Given the description of an element on the screen output the (x, y) to click on. 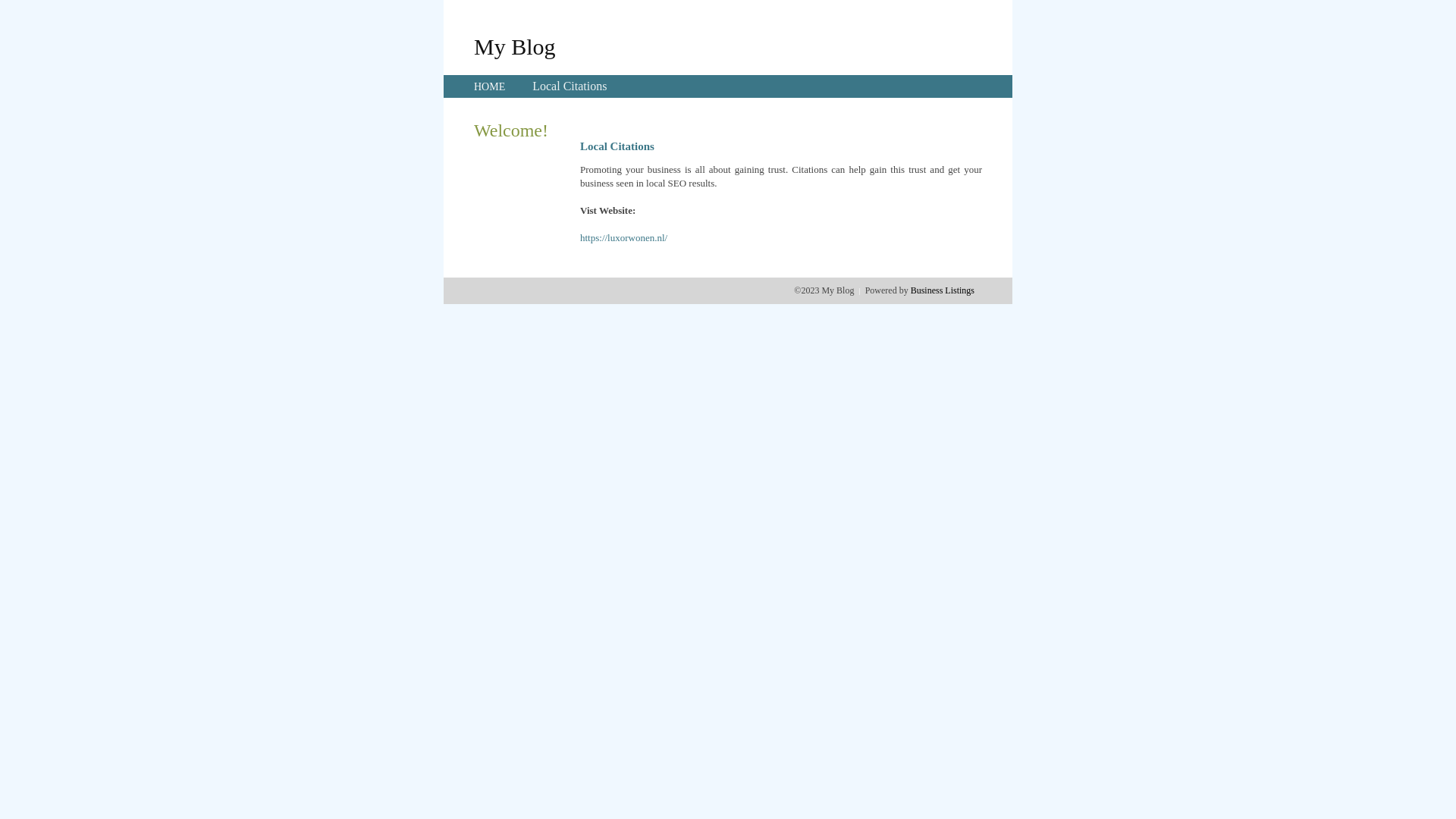
Local Citations Element type: text (569, 85)
HOME Element type: text (489, 86)
https://luxorwonen.nl/ Element type: text (623, 237)
Business Listings Element type: text (942, 290)
My Blog Element type: text (514, 46)
